Given the description of an element on the screen output the (x, y) to click on. 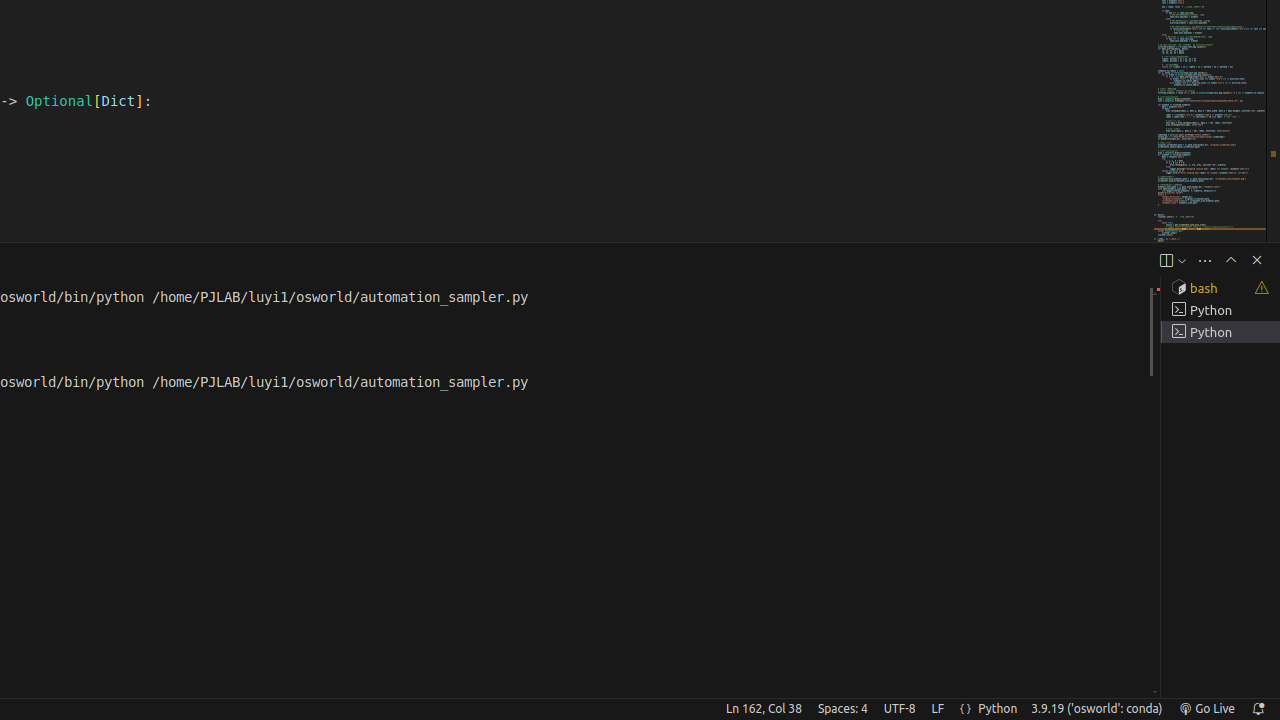
Spaces: 4 Element type: push-button (842, 709)
New Terminal (Ctrl+Shift+`) [Alt] Split Terminal (Ctrl+Shift+5) Element type: push-button (1166, 260)
Terminal 5 Python Element type: list-item (1220, 332)
Terminal 2 Python Element type: list-item (1220, 310)
Launch Profile... Element type: push-button (1182, 260)
